Given the description of an element on the screen output the (x, y) to click on. 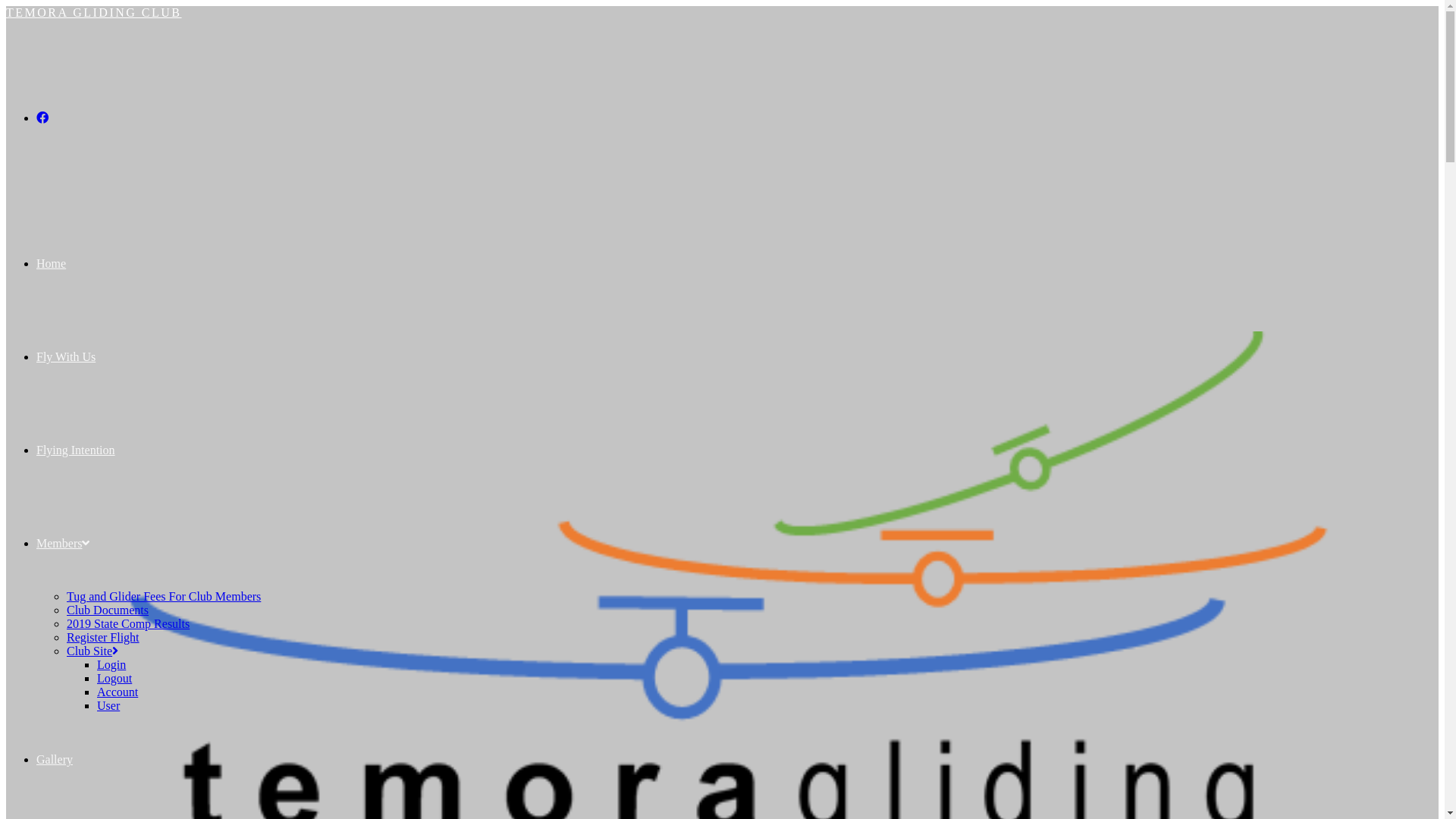
2019 State Comp Results Element type: text (127, 623)
User Element type: text (108, 705)
Home Element type: text (50, 263)
Login Element type: text (111, 664)
Club Documents Element type: text (107, 609)
Gallery Element type: text (54, 759)
Register Flight Element type: text (102, 636)
Logout Element type: text (114, 677)
Members Element type: text (62, 542)
Fly With Us Element type: text (65, 356)
Account Element type: text (117, 691)
Flying Intention Element type: text (75, 449)
TEMORA GLIDING CLUB Element type: text (94, 12)
Skip to content Element type: text (5, 5)
Club Site Element type: text (92, 650)
Tug and Glider Fees For Club Members Element type: text (163, 595)
